Given the description of an element on the screen output the (x, y) to click on. 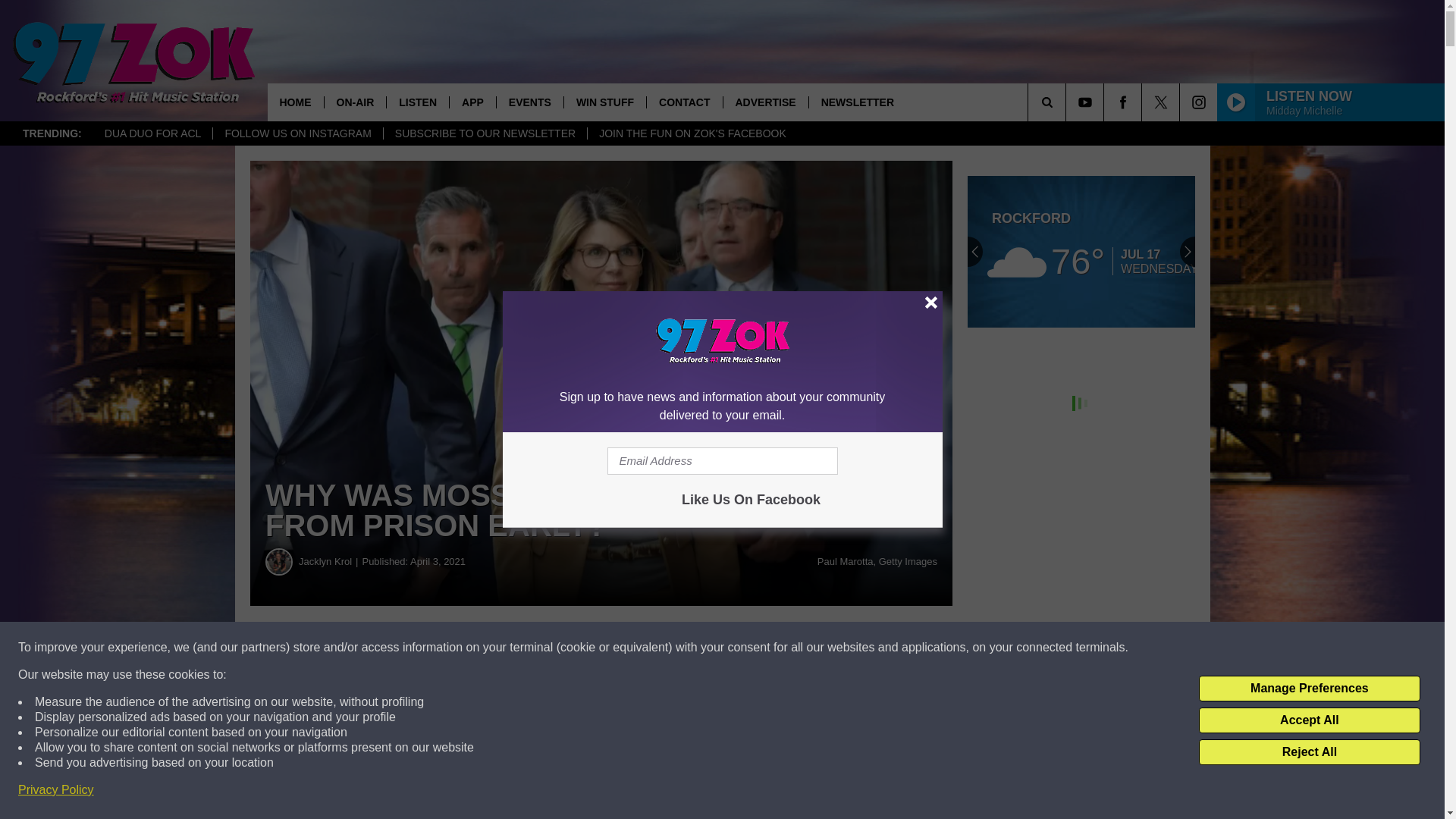
Accept All (1309, 720)
DUA DUO FOR ACL (152, 133)
EVENTS (529, 102)
Manage Preferences (1309, 688)
SEARCH (1068, 102)
ON-AIR (354, 102)
CONTACT (684, 102)
FOLLOW US ON INSTAGRAM (296, 133)
SEARCH (1068, 102)
APP (472, 102)
LISTEN (416, 102)
JOIN THE FUN ON ZOK'S FACEBOOK (691, 133)
WIN STUFF (604, 102)
Privacy Policy (55, 789)
TRENDING: (52, 133)
